Given the description of an element on the screen output the (x, y) to click on. 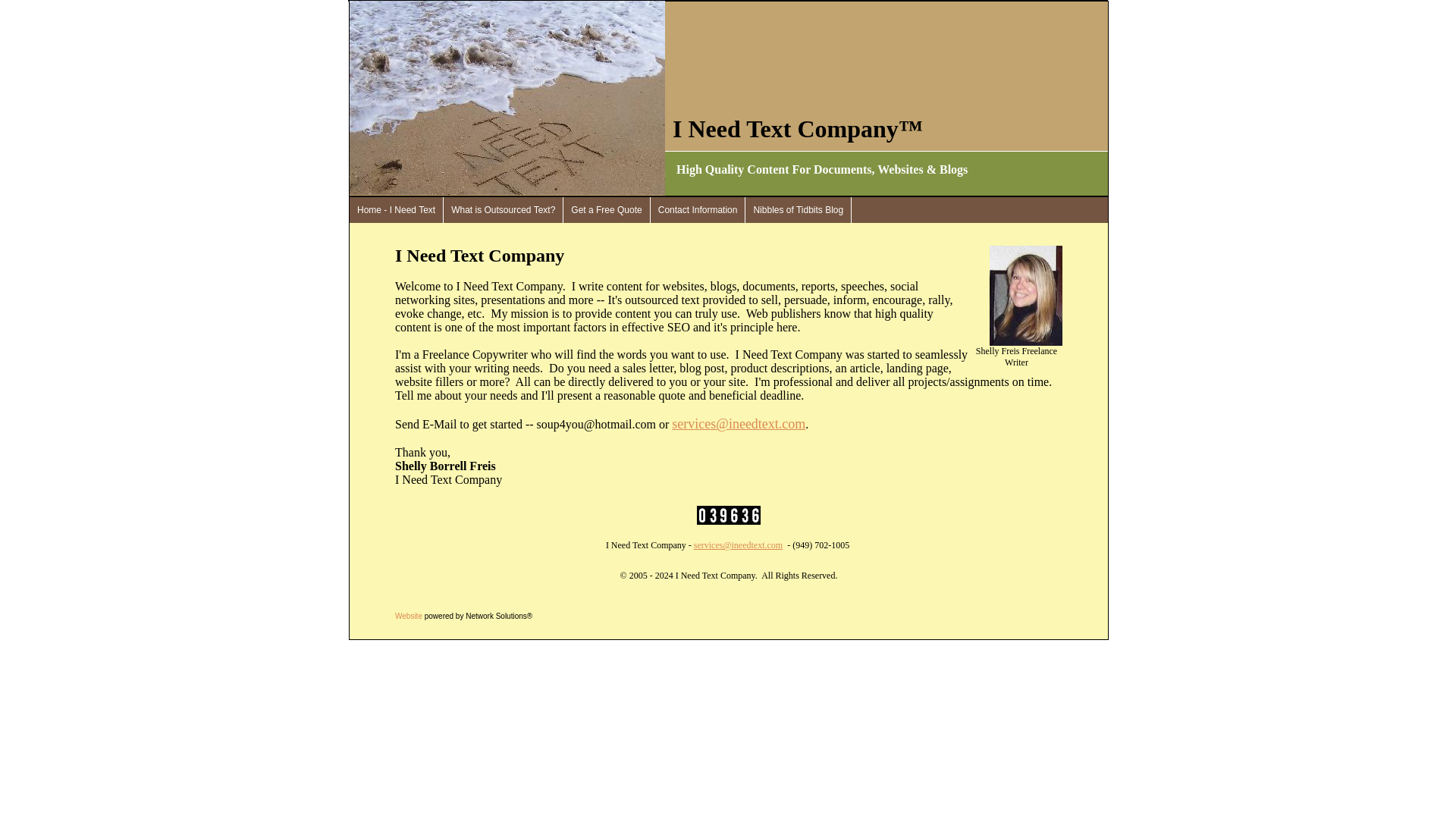
Nibbles of Tidbits Blog (798, 209)
Website (408, 615)
What is Outsourced Text? (503, 209)
Home - I Need Text (396, 209)
Website (408, 615)
Get a Free Quote (606, 209)
Contact Information (697, 209)
